Given the description of an element on the screen output the (x, y) to click on. 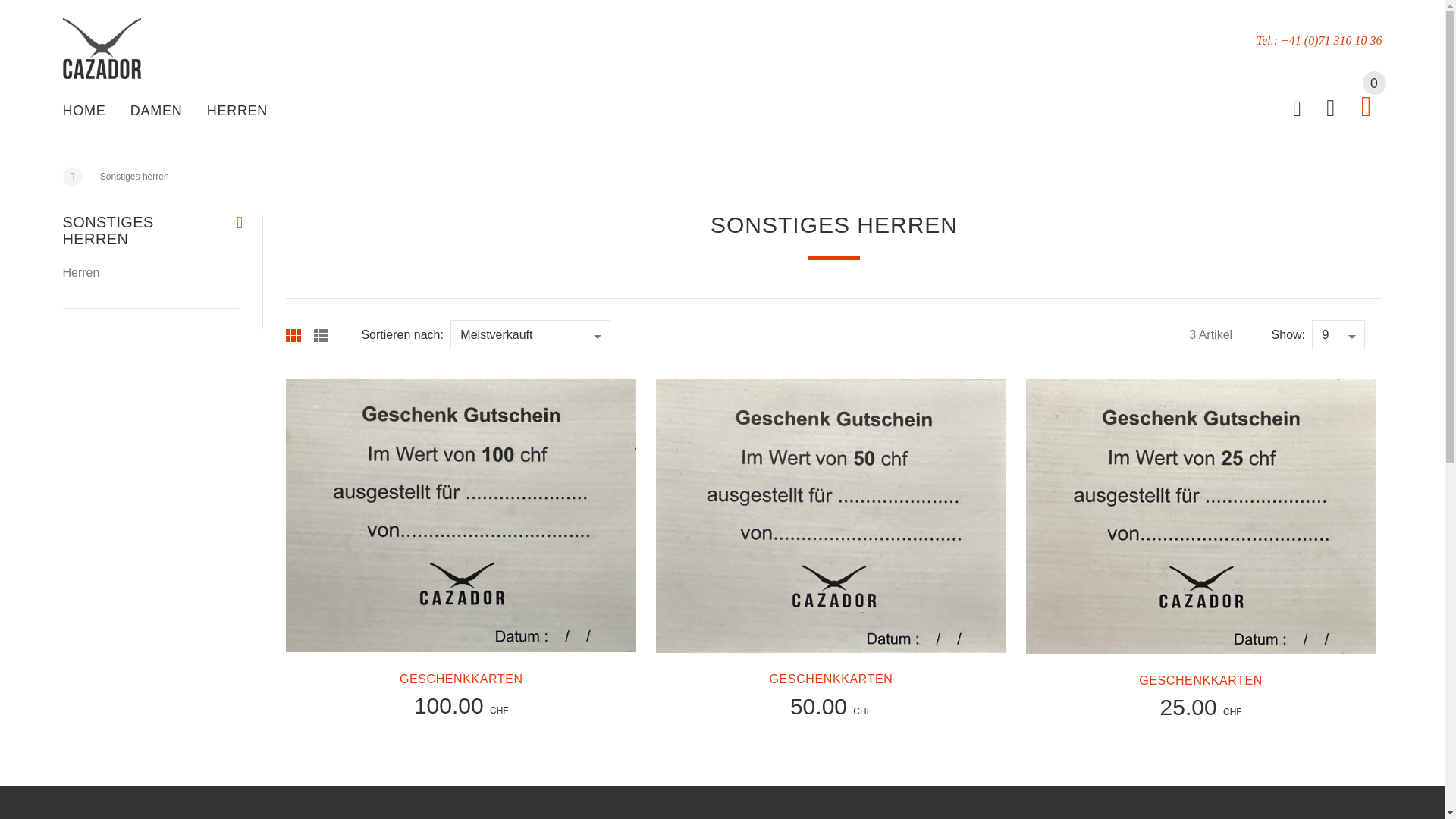
HOME Element type: text (89, 112)
DAMEN Element type: text (156, 112)
Herren Element type: text (80, 272)
0 Element type: text (1366, 111)
HERREN Element type: text (231, 112)
GESCHENKKARTEN Element type: text (831, 678)
GESCHENKKARTEN Element type: text (1200, 680)
GESCHENKKARTEN Element type: text (461, 678)
